Given the description of an element on the screen output the (x, y) to click on. 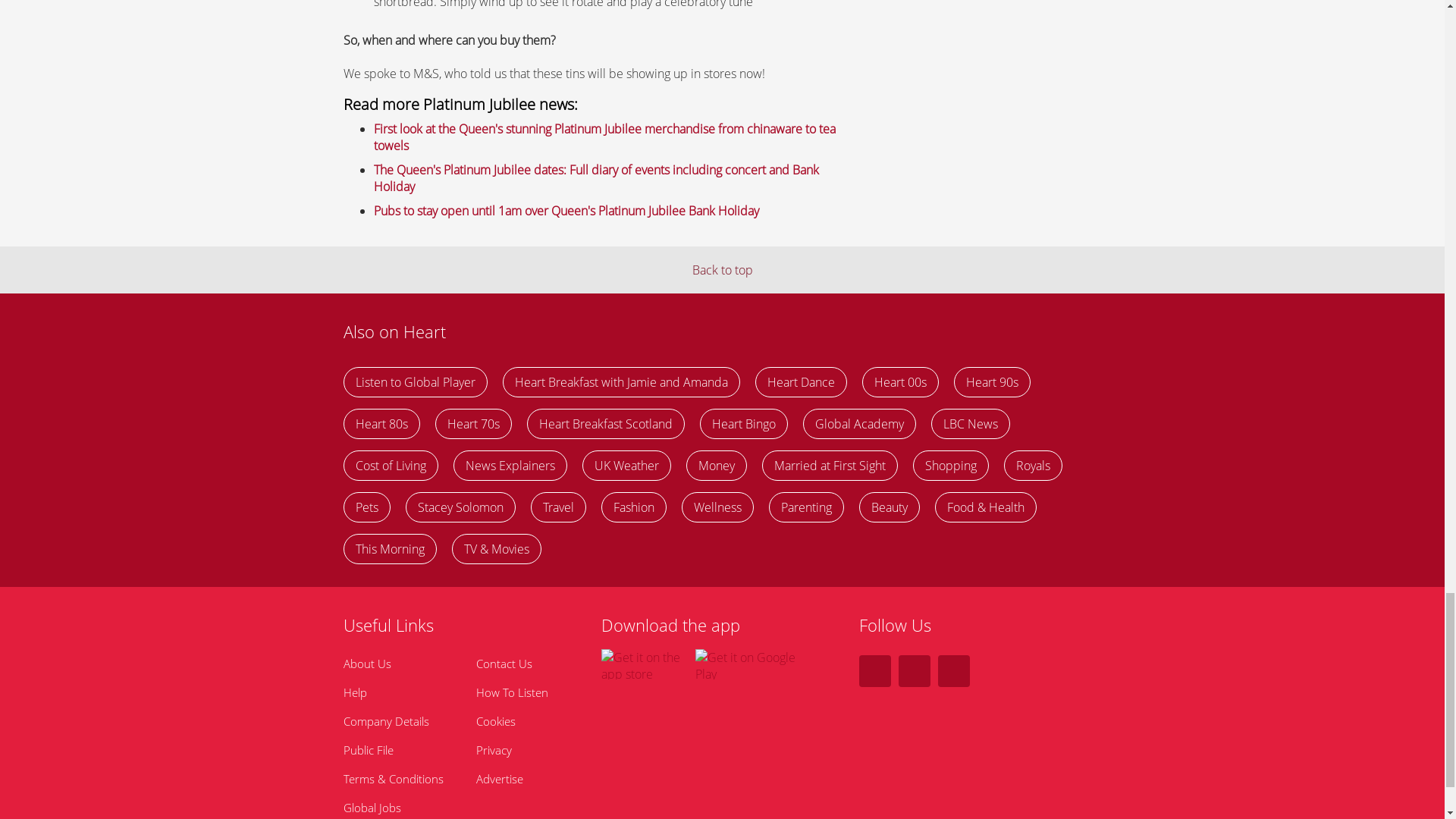
Back to top (721, 269)
Follow Heart on Youtube (953, 671)
Follow Heart on Facebook (874, 671)
Follow Heart on Instagram (914, 671)
